Given the description of an element on the screen output the (x, y) to click on. 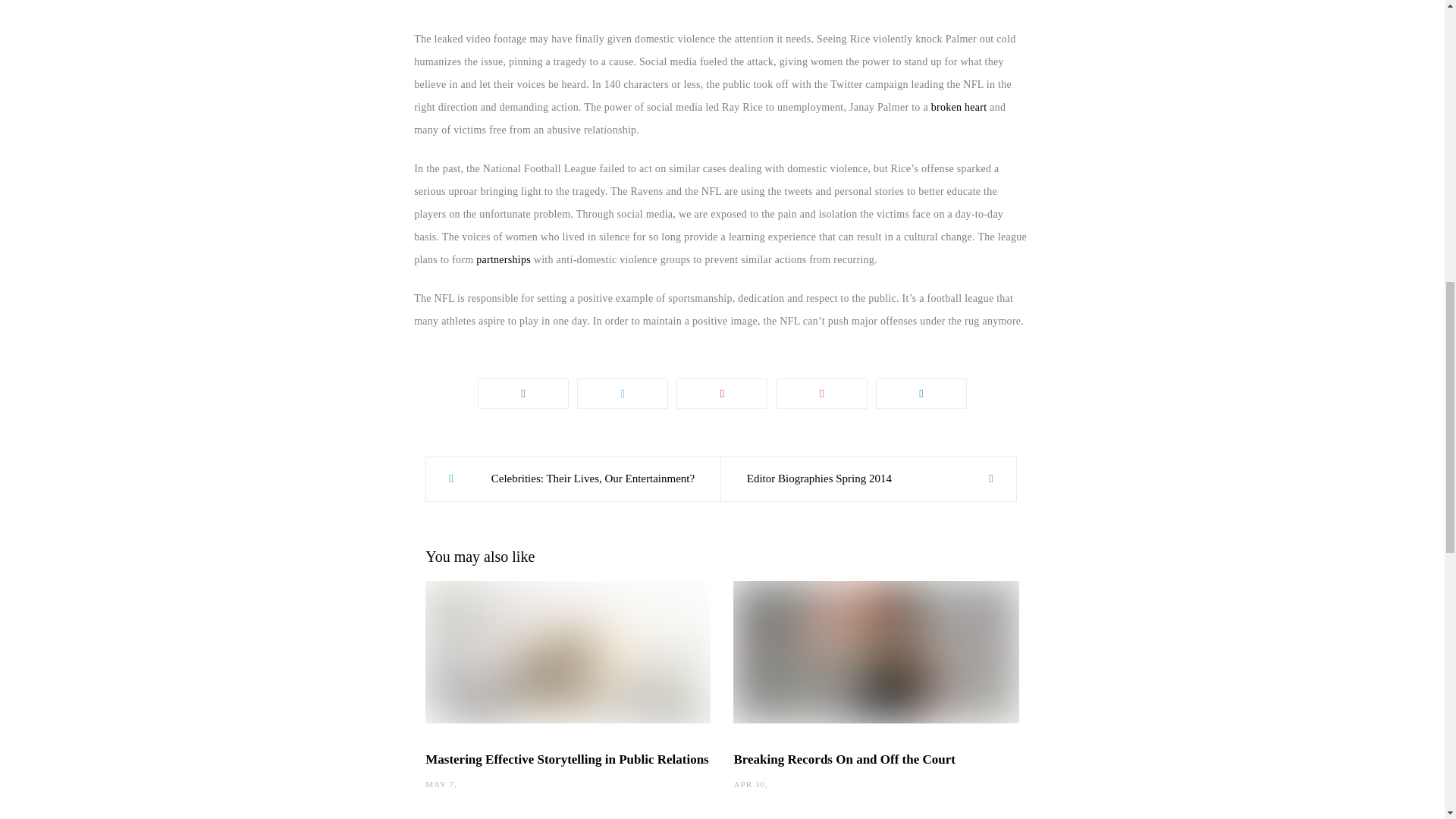
Editor Biographies Spring 2014 (868, 479)
broken heart (960, 107)
Tuesday, April 30, 2024, 1:39 pm (749, 783)
Tuesday, May 7, 2024, 2:05 pm (439, 783)
Celebrities: Their Lives, Our Entertainment? (572, 479)
partnerships (503, 259)
Mastering Effective Storytelling in Public Relations (566, 759)
